Given the description of an element on the screen output the (x, y) to click on. 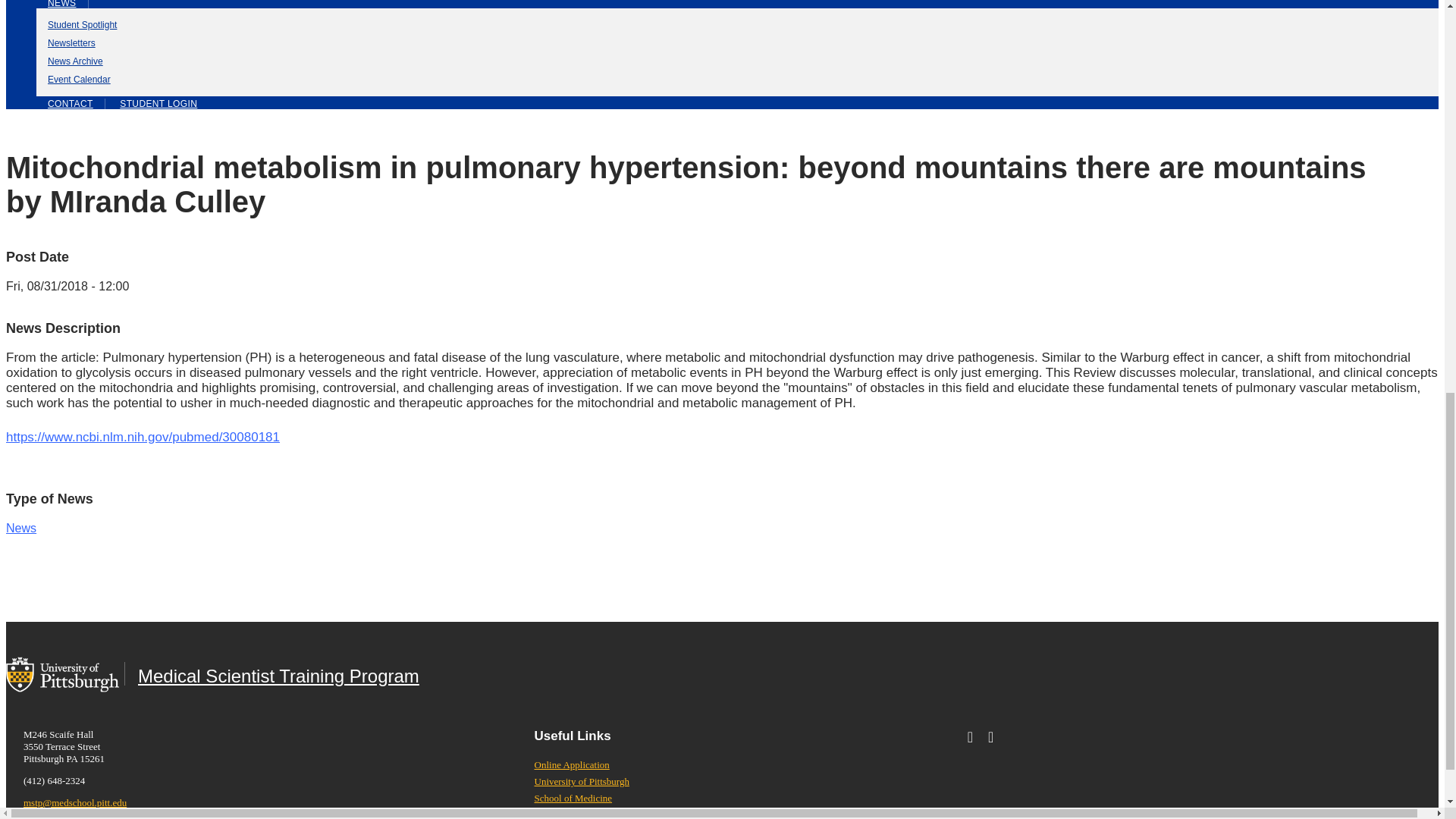
Home (271, 673)
contact form (70, 103)
Pitt Home (62, 672)
